Given the description of an element on the screen output the (x, y) to click on. 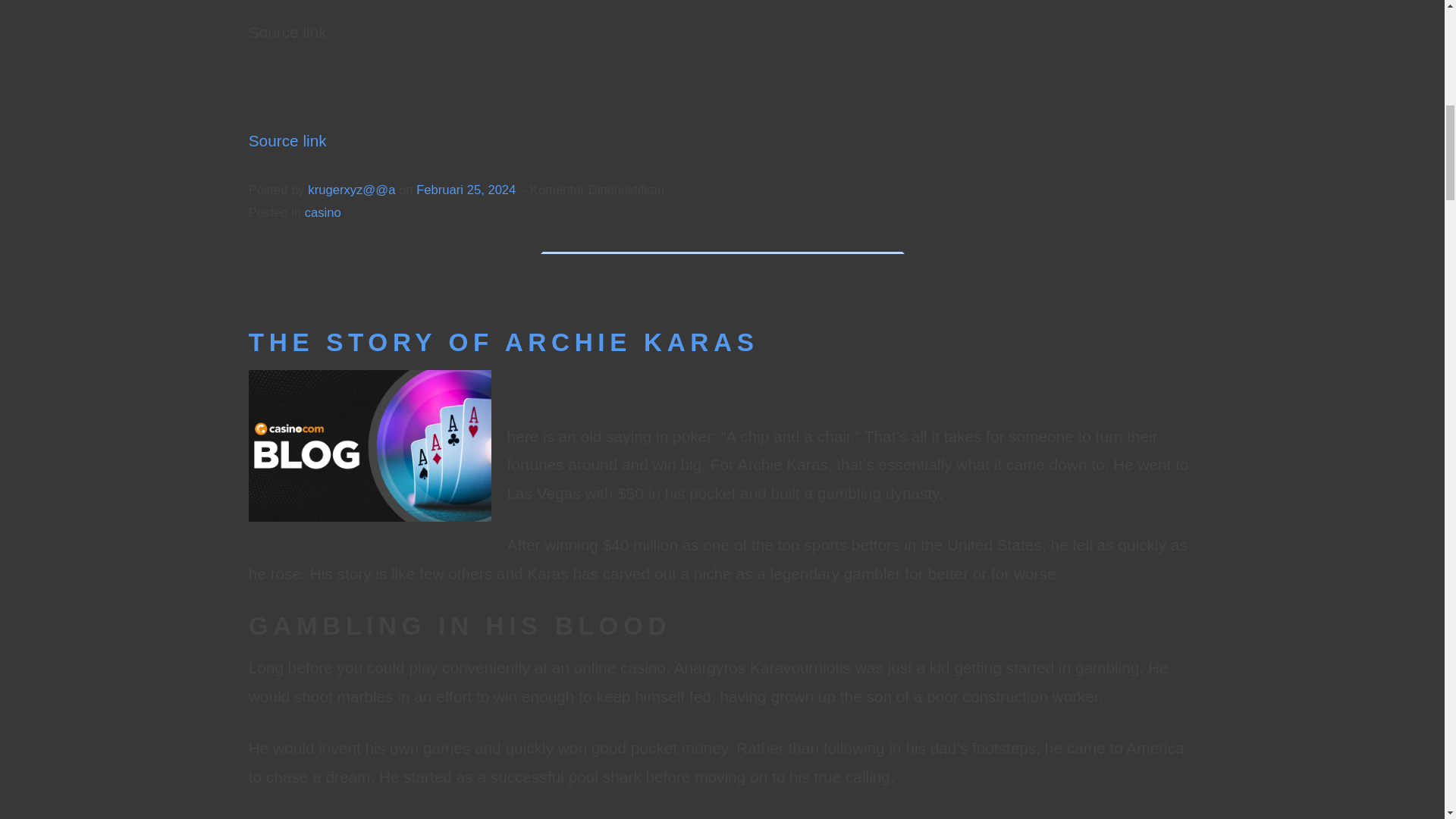
THE STORY OF ARCHIE KARAS (503, 342)
casino (322, 212)
Februari 25, 2024 (467, 189)
Source link (287, 140)
